Given the description of an element on the screen output the (x, y) to click on. 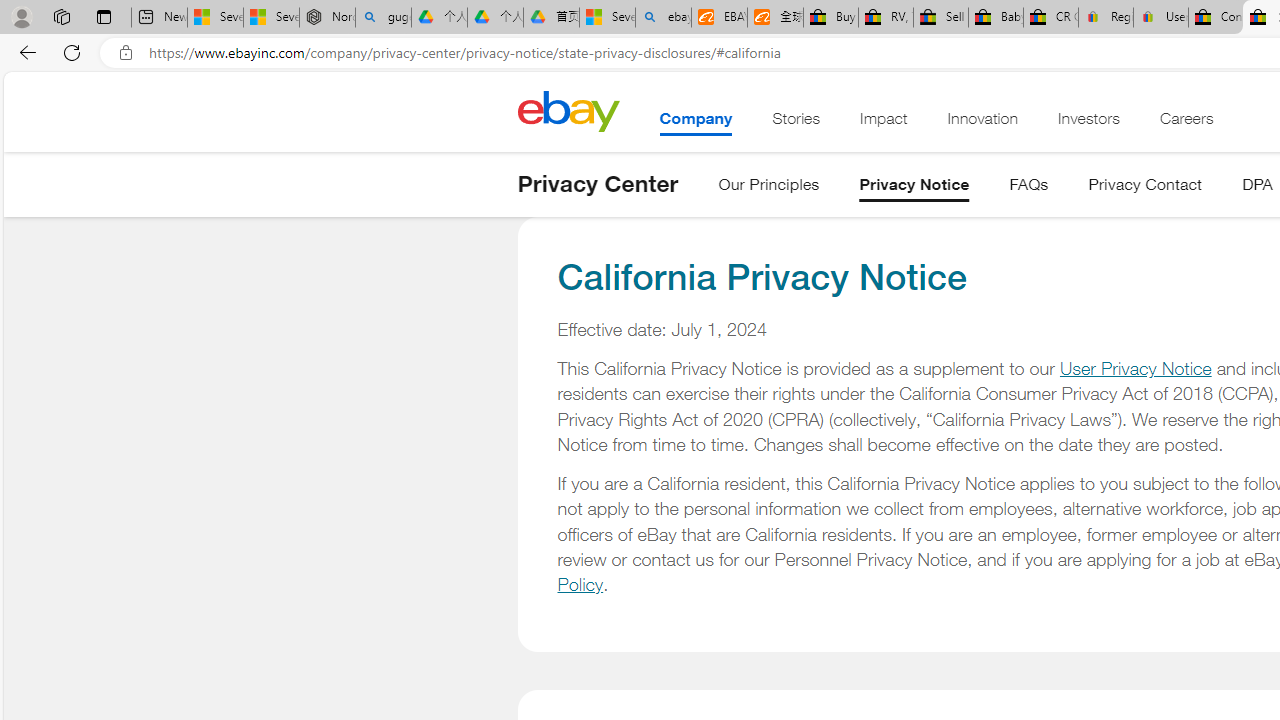
Buy Auto Parts & Accessories | eBay (830, 17)
RV, Trailer & Camper Steps & Ladders for sale | eBay (885, 17)
Register: Create a personal eBay account (1105, 17)
guge yunpan - Search (382, 17)
Sell worldwide with eBay (940, 17)
FAQs (1028, 188)
DPA (1257, 188)
